Given the description of an element on the screen output the (x, y) to click on. 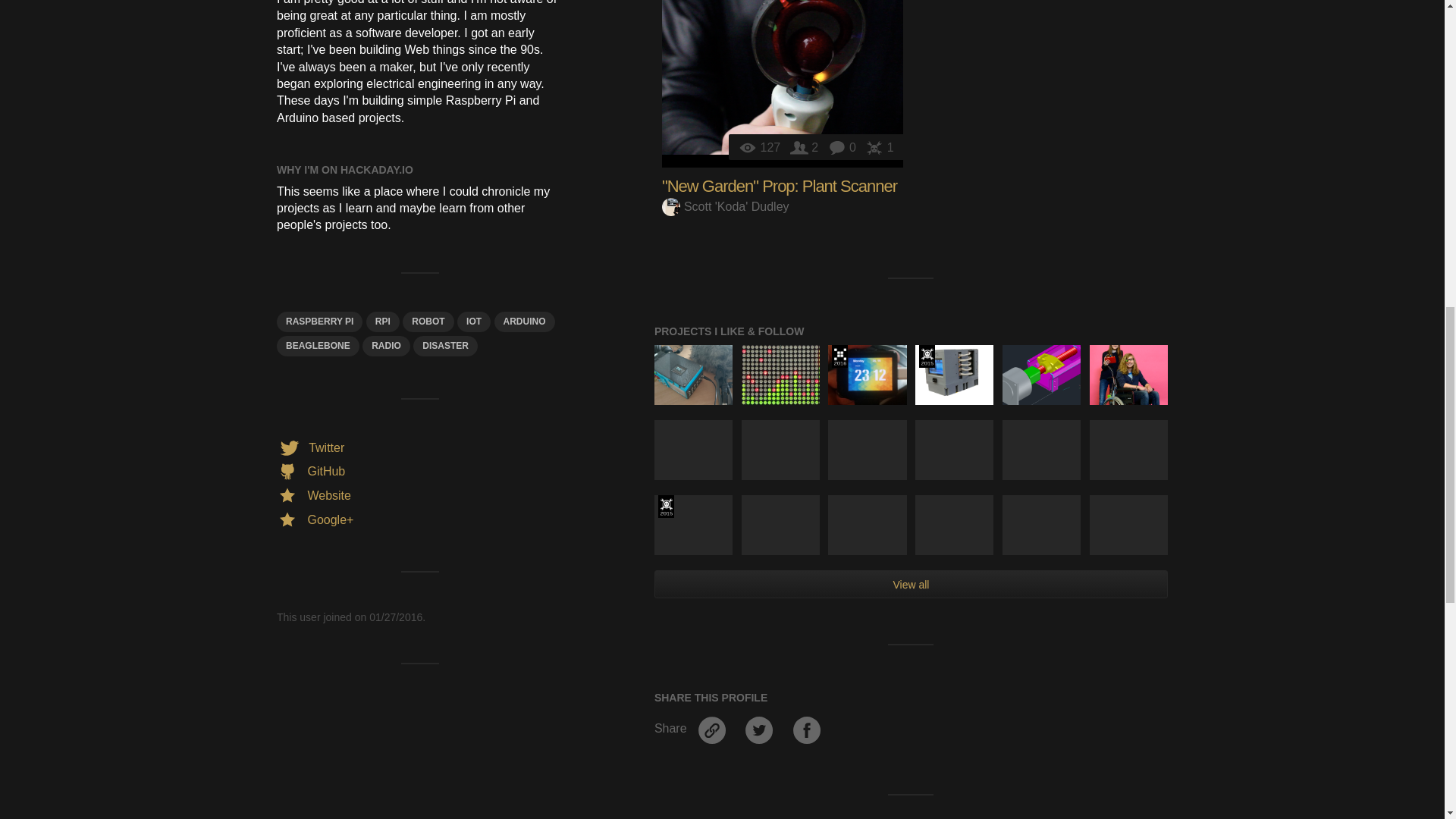
Twitter (309, 447)
RADIO (386, 345)
ROBOT (427, 322)
"New Garden" Prop: Plant Scanner by Scott 'Koda' Dudley (783, 83)
BEAGLEBONE (317, 345)
IOT (473, 322)
View Count (761, 146)
ARDUINO (524, 322)
RASPBERRY PI (319, 322)
RPI (382, 322)
